Given the description of an element on the screen output the (x, y) to click on. 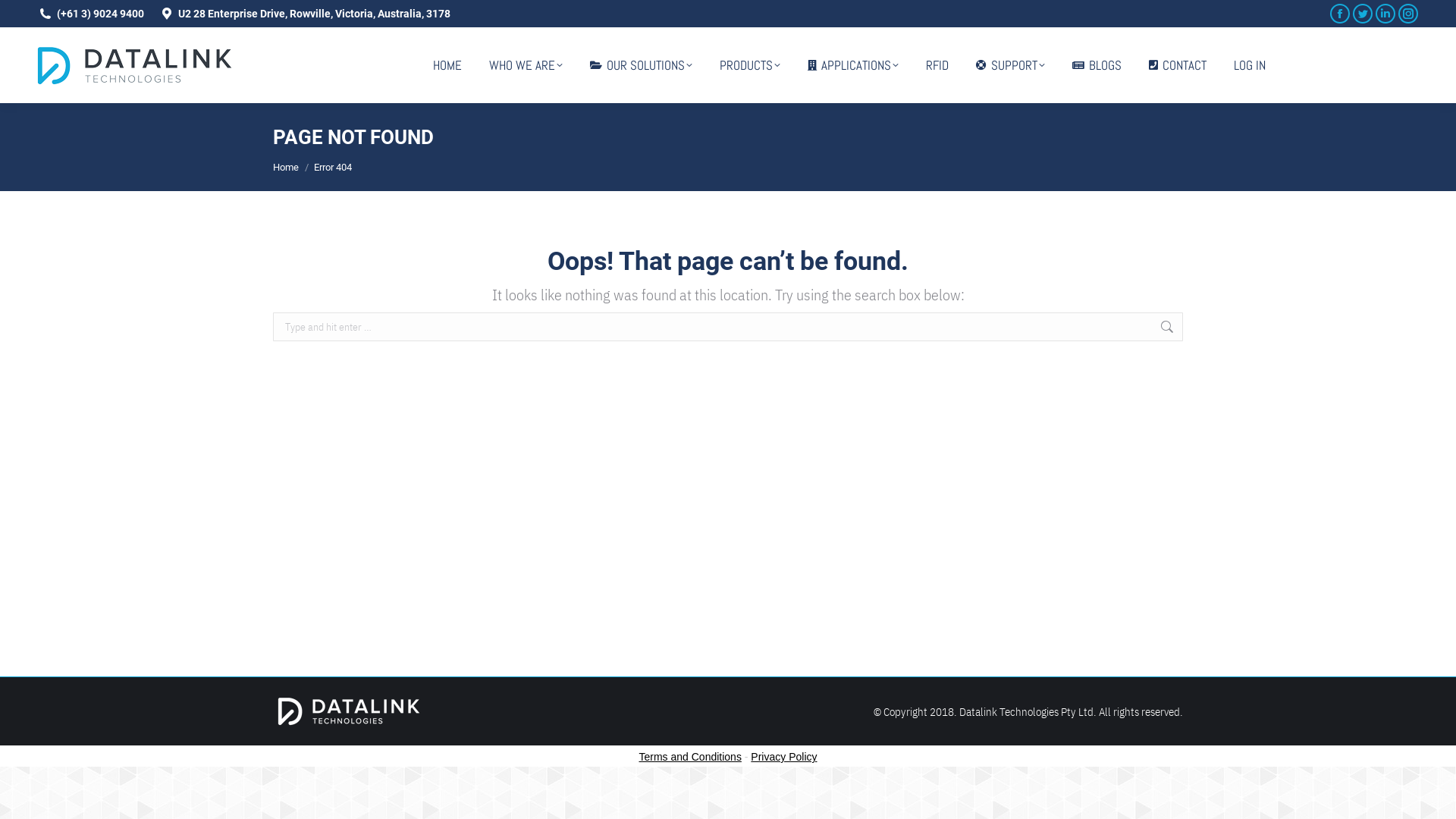
WHO WE ARE Element type: text (525, 64)
Linkedin page opens in new window Element type: text (1385, 13)
Instagram page opens in new window Element type: text (1408, 13)
LOG IN Element type: text (1249, 64)
Go! Element type: text (1206, 328)
Facebook page opens in new window Element type: text (1339, 13)
CONTACT Element type: text (1177, 64)
HOME Element type: text (446, 64)
Privacy Policy Element type: text (783, 756)
(+61 3) 9024 9400 Element type: text (100, 13)
BLOGS Element type: text (1096, 64)
Terms and Conditions Element type: text (689, 756)
OUR SOLUTIONS Element type: text (640, 64)
PRODUCTS Element type: text (749, 64)
Twitter page opens in new window Element type: text (1362, 13)
SUPPORT Element type: text (1010, 64)
RFID Element type: text (936, 64)
APPLICATIONS Element type: text (852, 64)
Home Element type: text (285, 166)
